Given the description of an element on the screen output the (x, y) to click on. 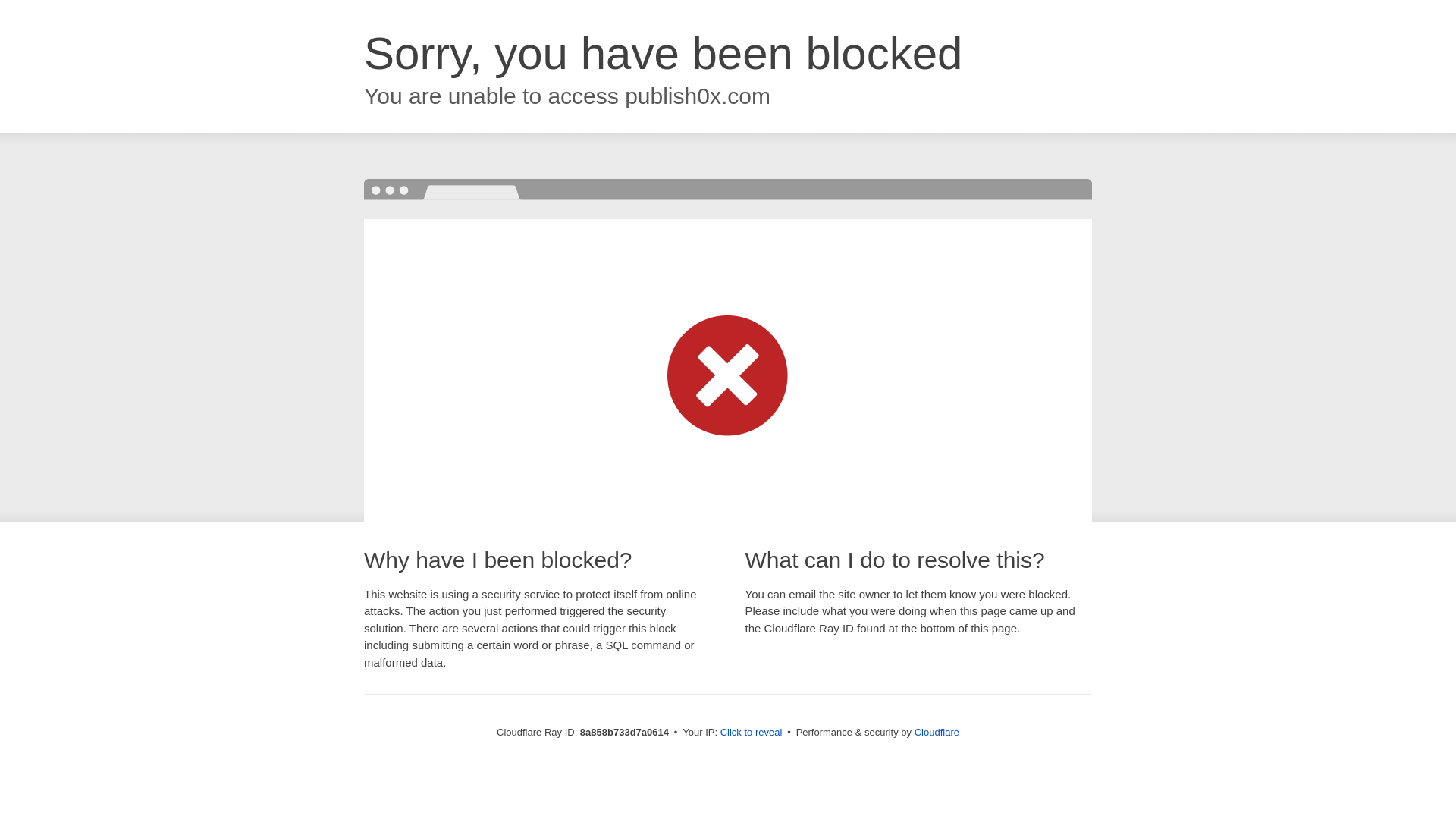
Cloudflare (936, 731)
Click to reveal (751, 732)
